Given the description of an element on the screen output the (x, y) to click on. 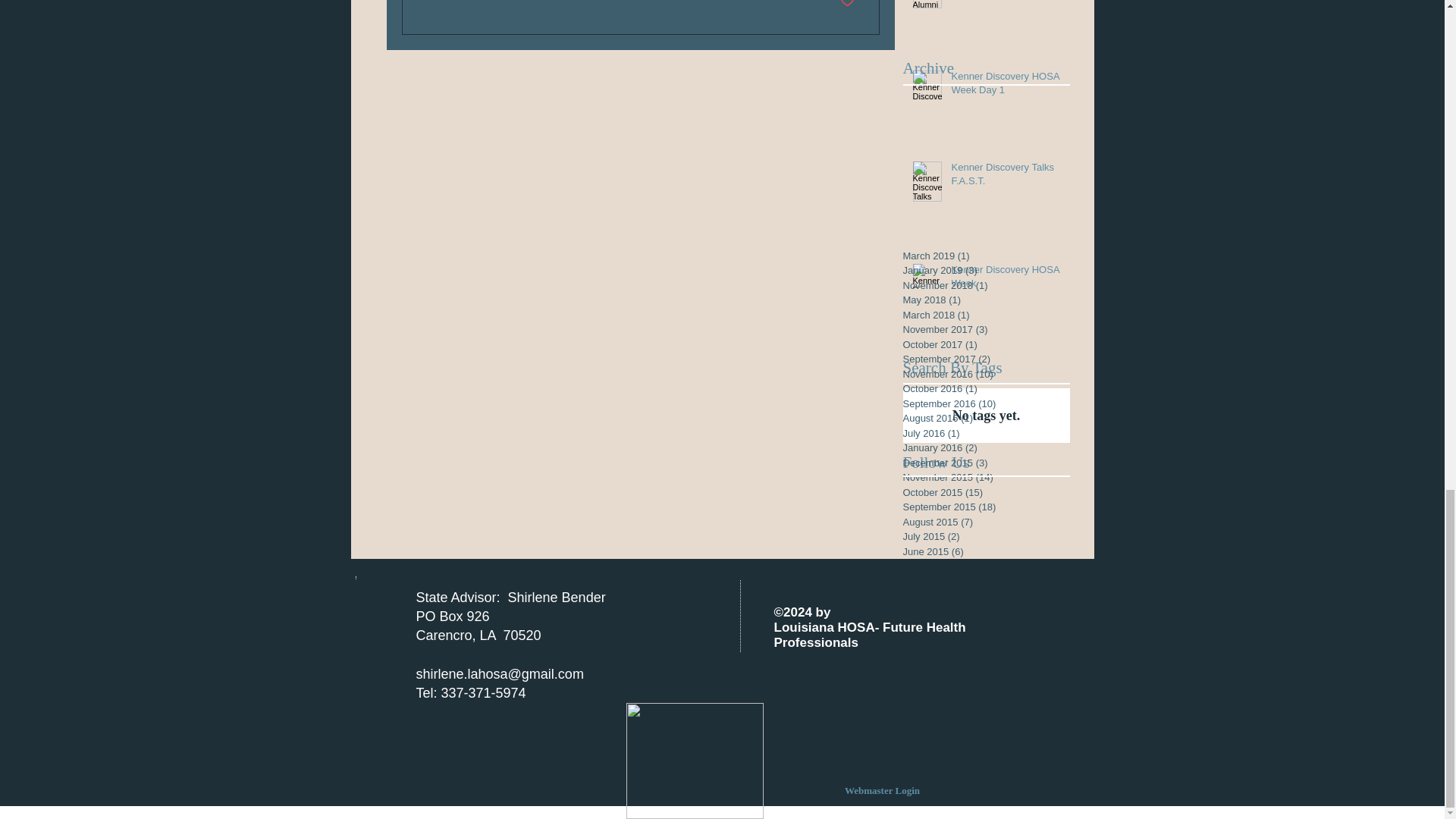
Post not marked as liked (847, 4)
